Given the description of an element on the screen output the (x, y) to click on. 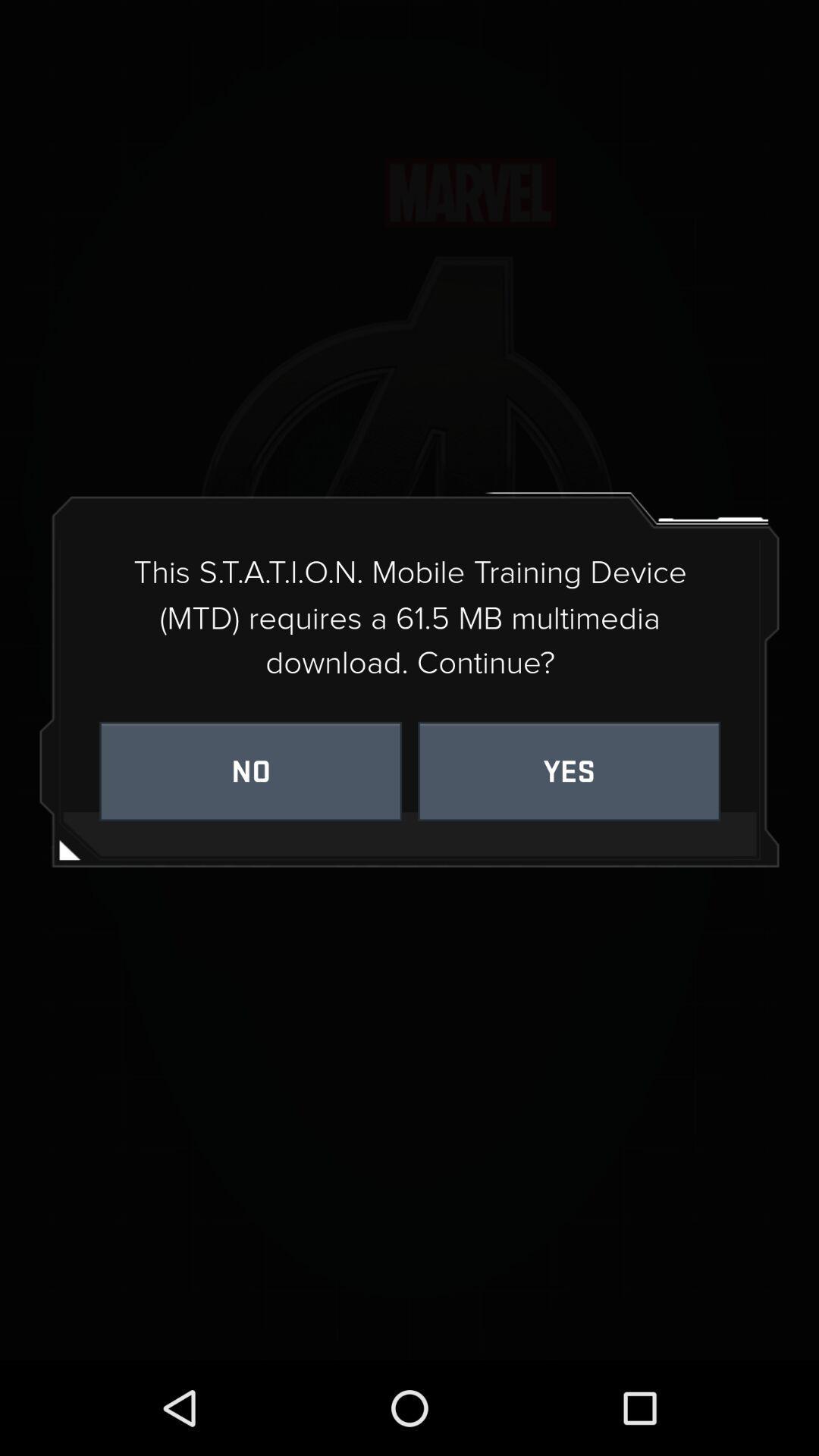
tap item on the left (250, 771)
